Given the description of an element on the screen output the (x, y) to click on. 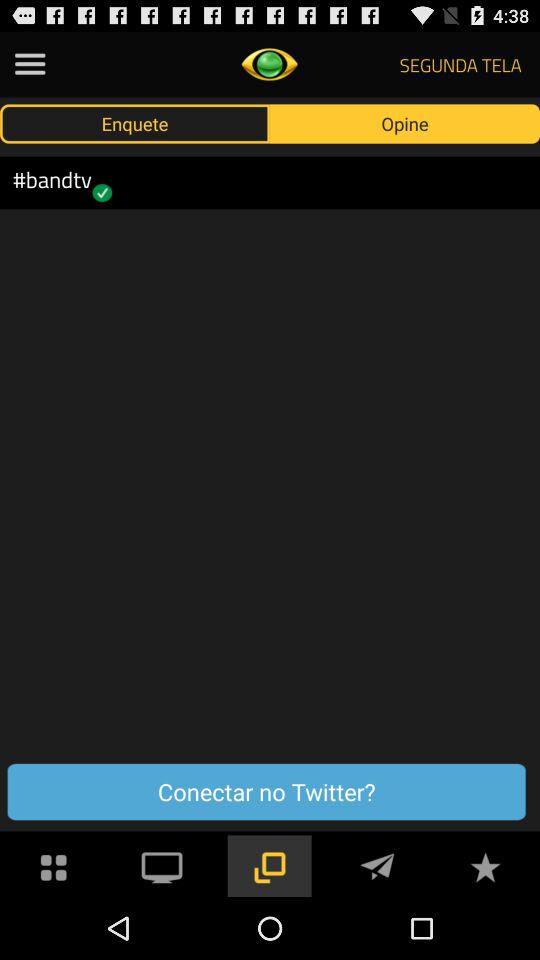
full screen (162, 865)
